Given the description of an element on the screen output the (x, y) to click on. 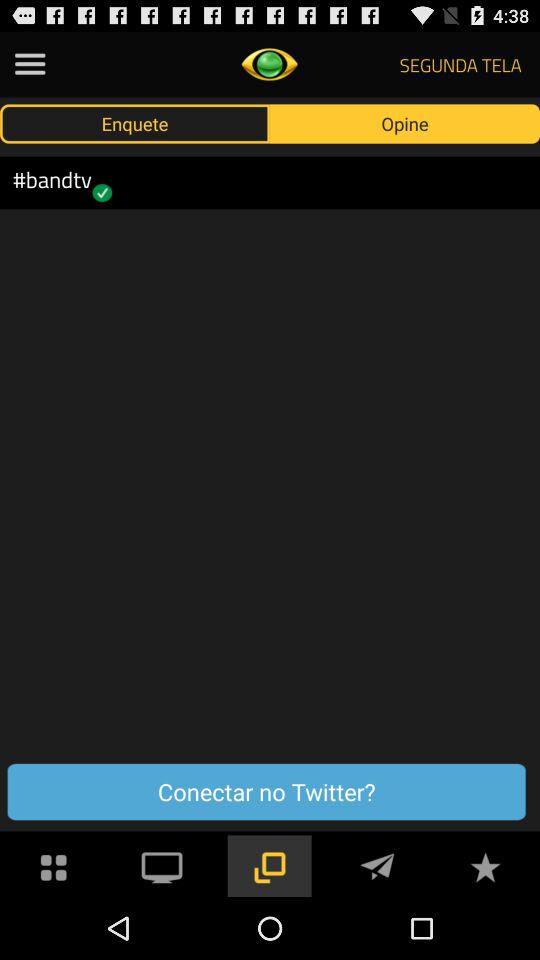
full screen (162, 865)
